Given the description of an element on the screen output the (x, y) to click on. 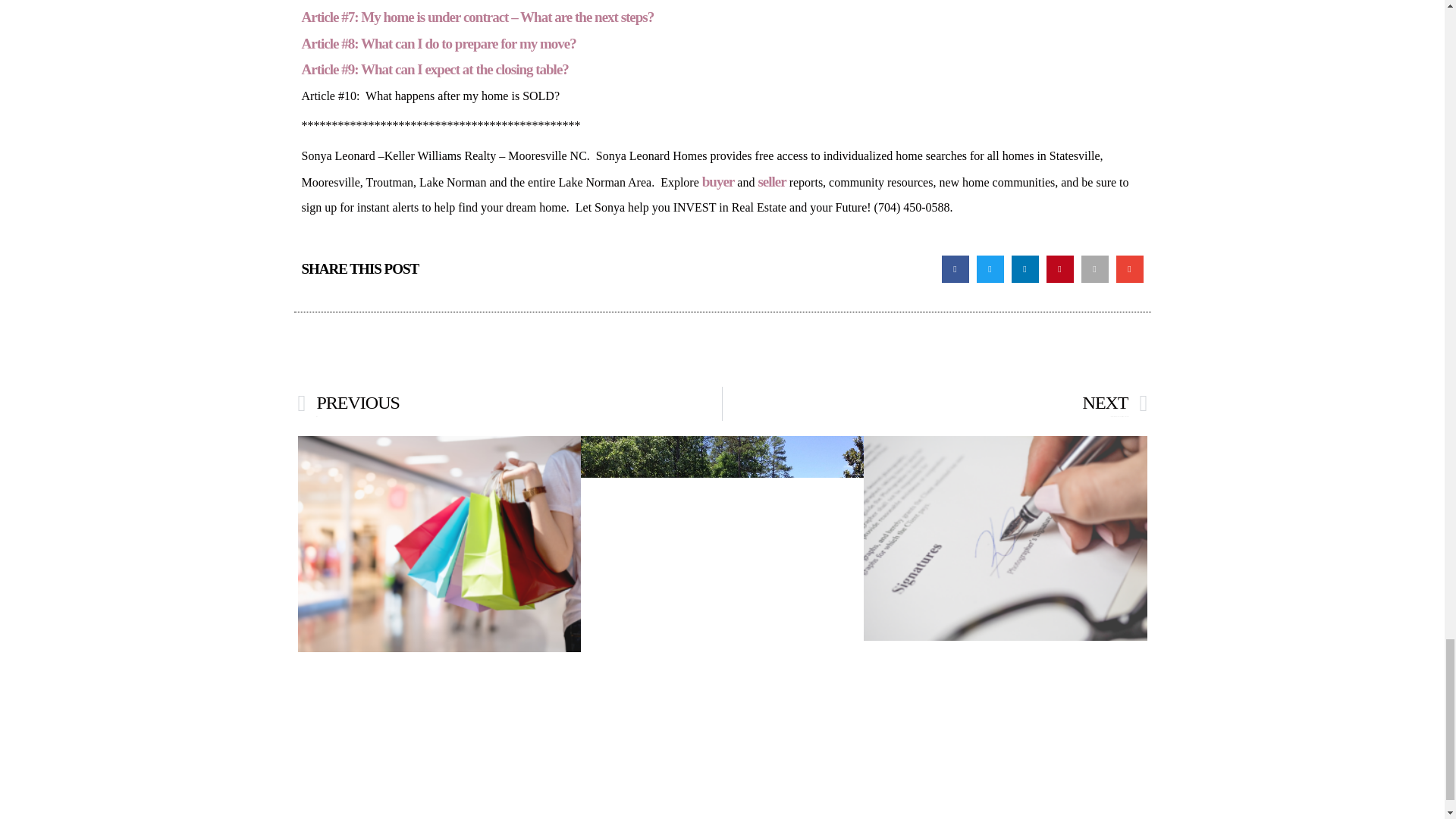
My home is under contract. What are my next steps (477, 17)
seller (771, 181)
What can I expect at the closing table? (435, 68)
buyer (718, 181)
What can I do to prepare for my move? (934, 403)
